Given the description of an element on the screen output the (x, y) to click on. 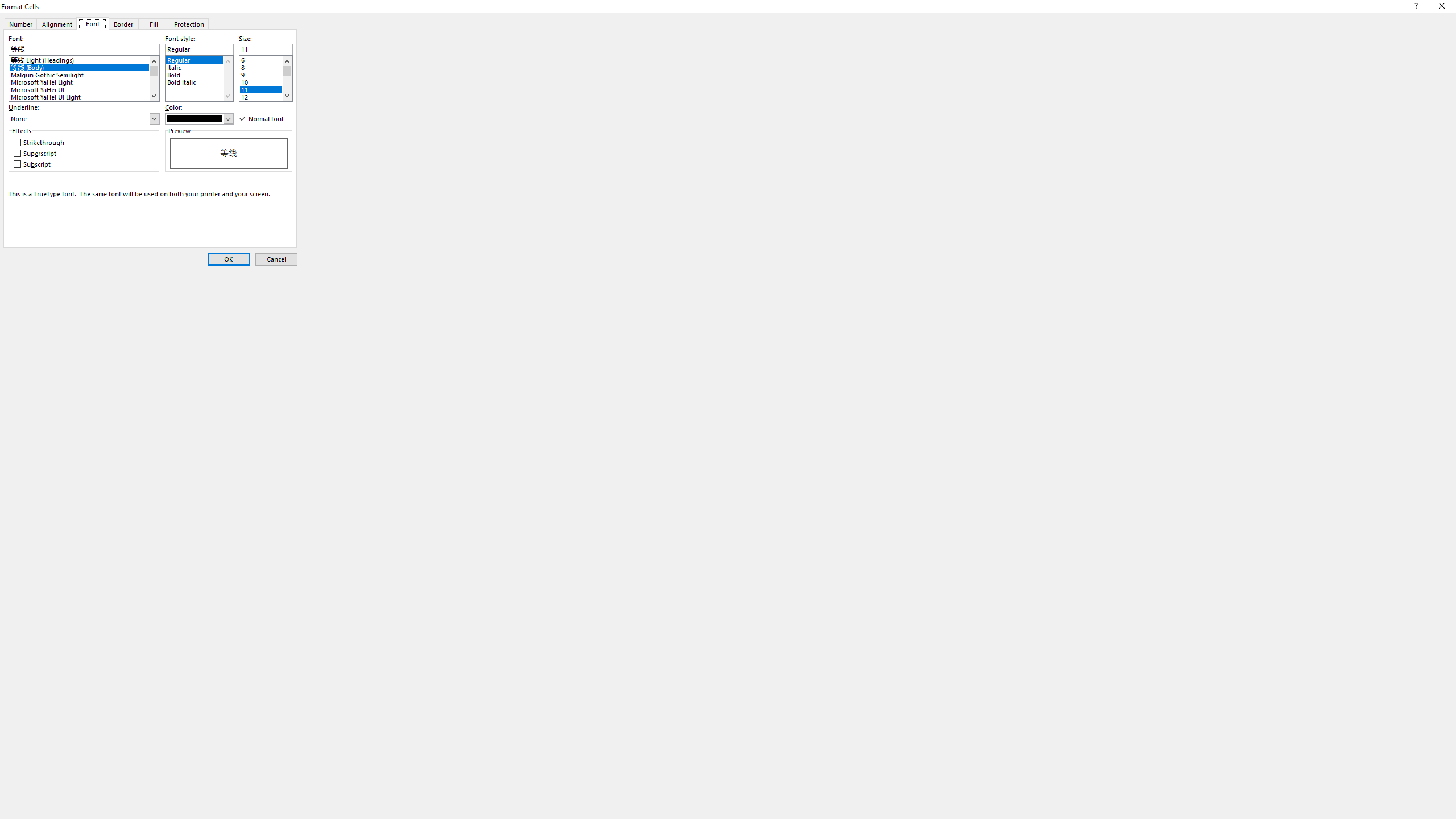
Underline: (84, 119)
Color Black (199, 118)
Font style: (199, 48)
6 (265, 58)
AutomationID: 4672 (286, 78)
12 (265, 95)
Font (92, 23)
Strikethrough (39, 142)
Microsoft YaHei UI Light (84, 95)
Subscript (32, 163)
